Given the description of an element on the screen output the (x, y) to click on. 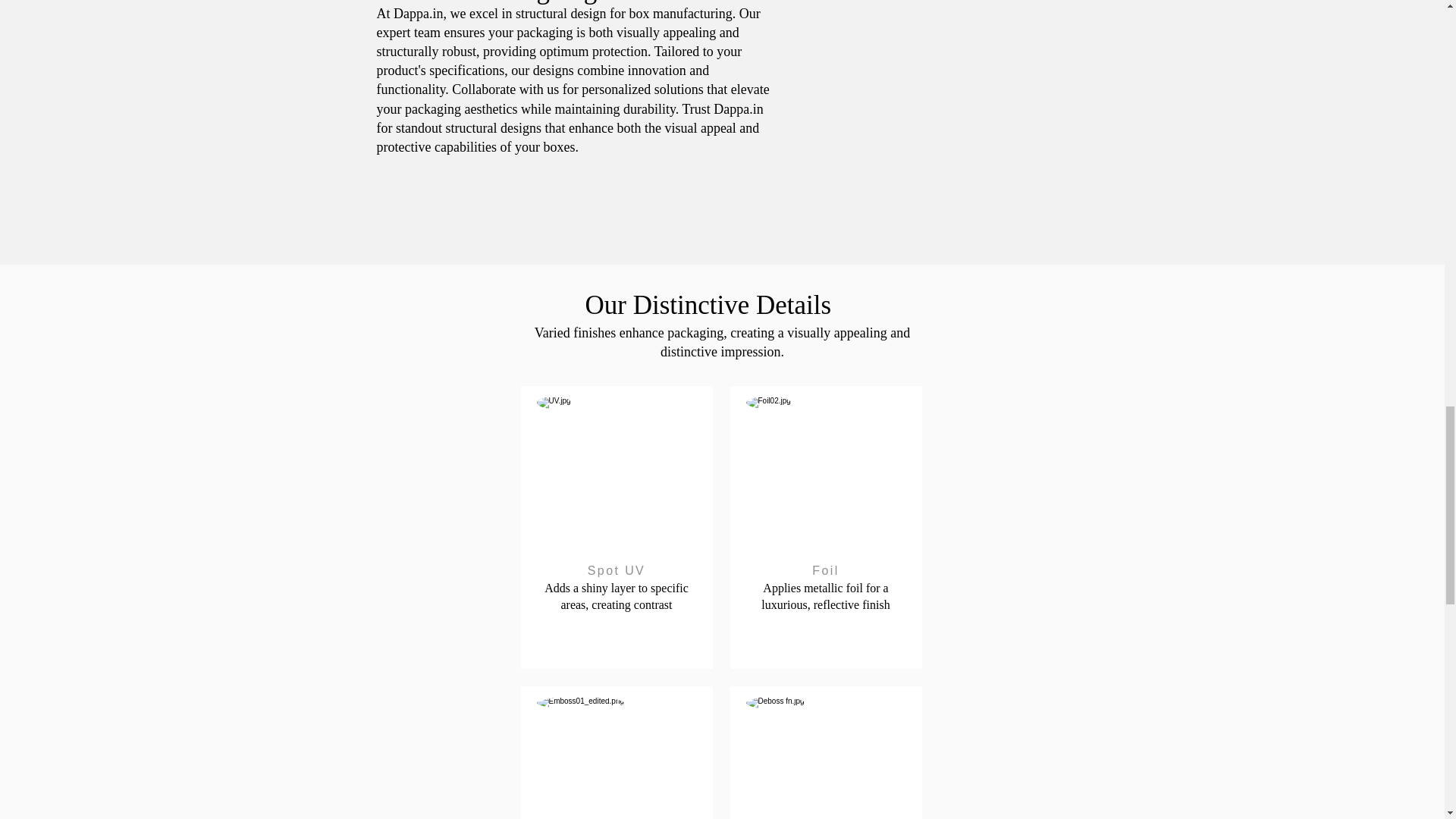
Spot UV (617, 570)
Foil (825, 570)
